Given the description of an element on the screen output the (x, y) to click on. 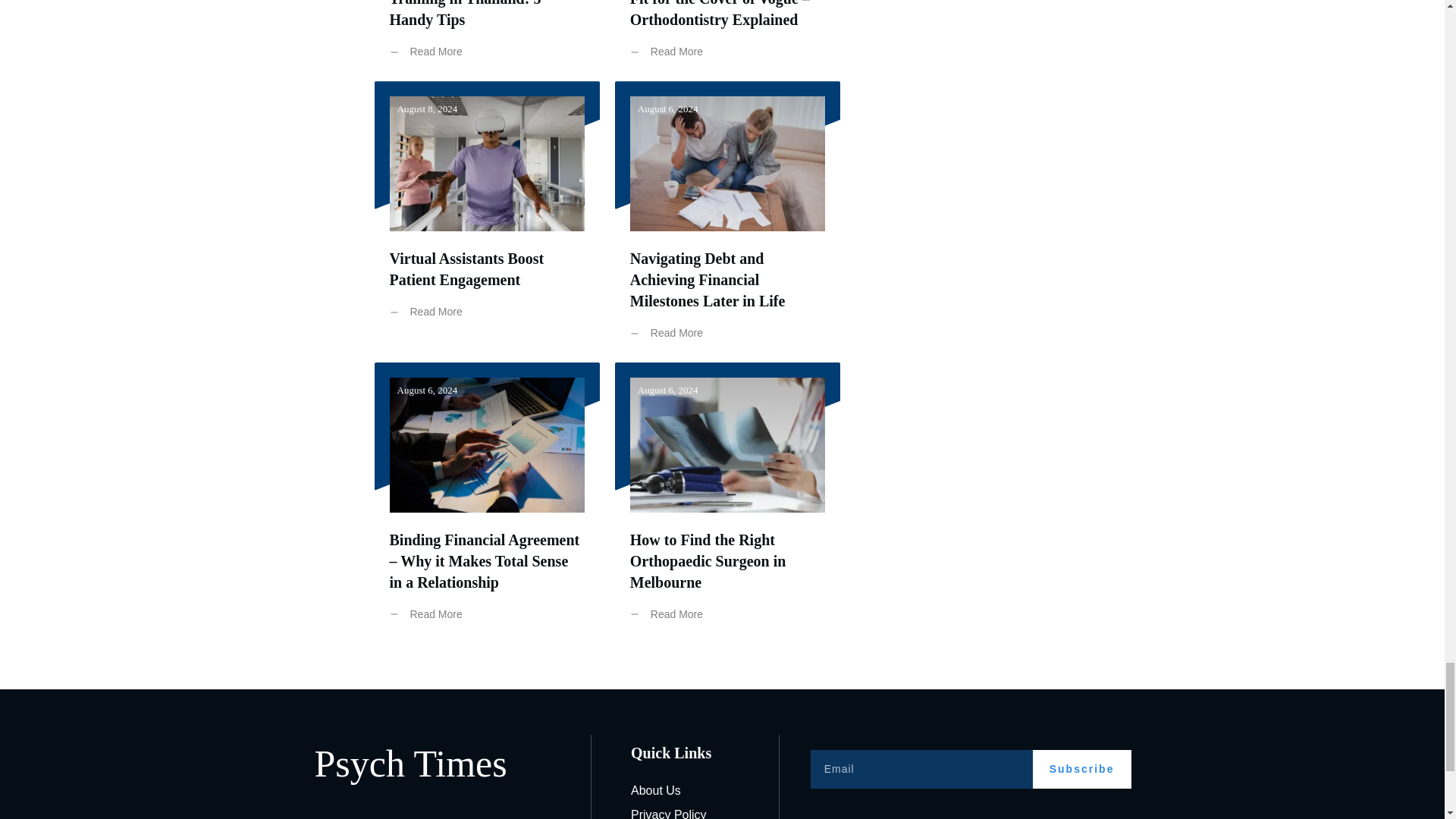
Virtual Assistants Boost Patient Engagement (467, 269)
Choose Right Yoga Teacher Training in Thailand: 5 Handy Tips (478, 13)
How to Find the Right Orthopaedic Surgeon in Melbourne (708, 560)
